Given the description of an element on the screen output the (x, y) to click on. 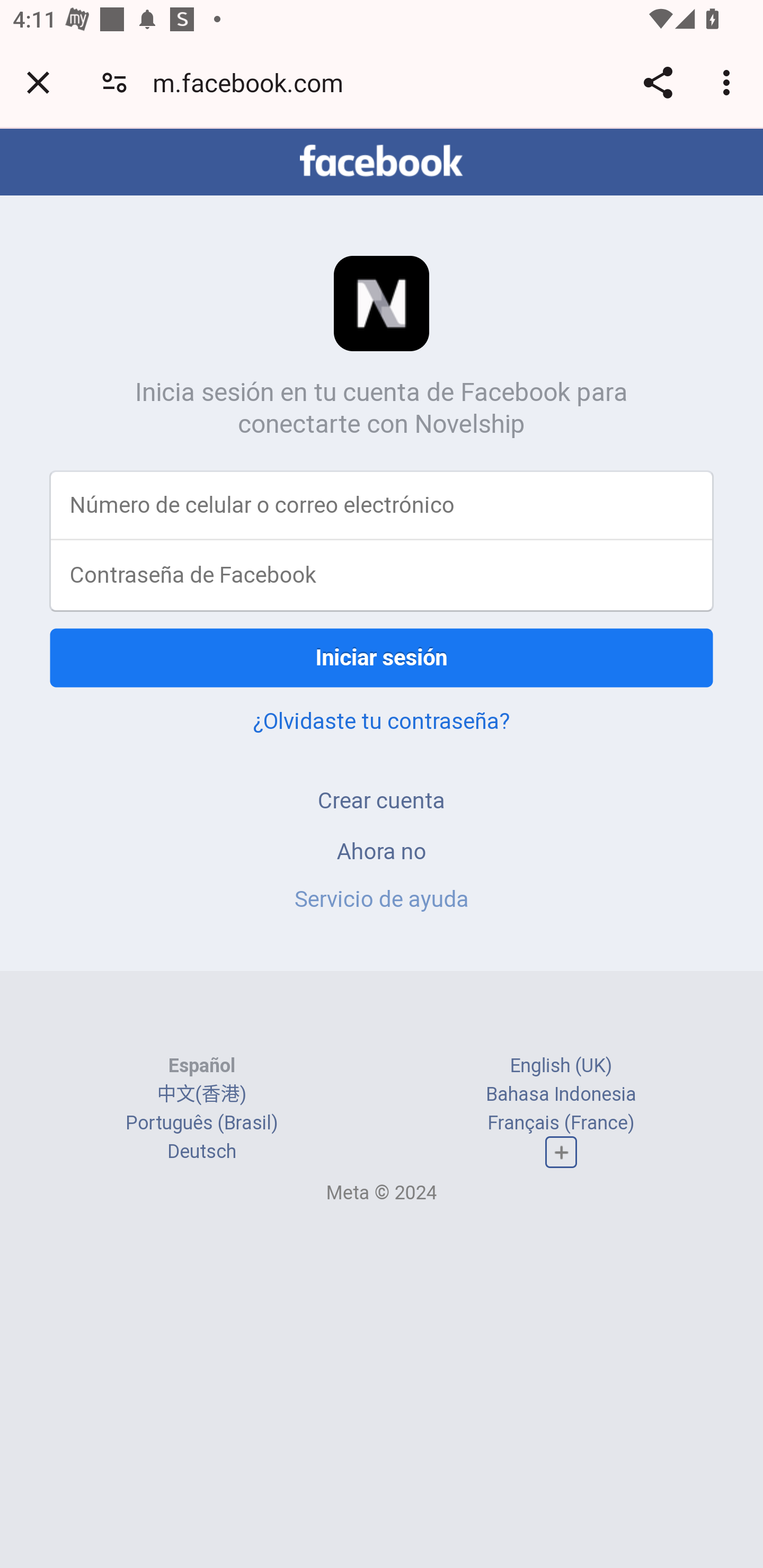
Close tab (38, 82)
Share (657, 82)
Customize and control Google Chrome (729, 82)
Connection is secure (114, 81)
m.facebook.com (254, 81)
facebook (381, 160)
Iniciar sesión (381, 657)
¿Olvidaste tu contraseña? (381, 720)
Crear cuenta (381, 800)
Ahora no (381, 850)
Servicio de ayuda (381, 898)
English (UK) (560, 1065)
中文(香港) (201, 1093)
Bahasa Indonesia (560, 1093)
Português (Brasil) (201, 1122)
Français (France) (560, 1122)
Lista completa de idiomas (560, 1152)
Deutsch (201, 1151)
